Given the description of an element on the screen output the (x, y) to click on. 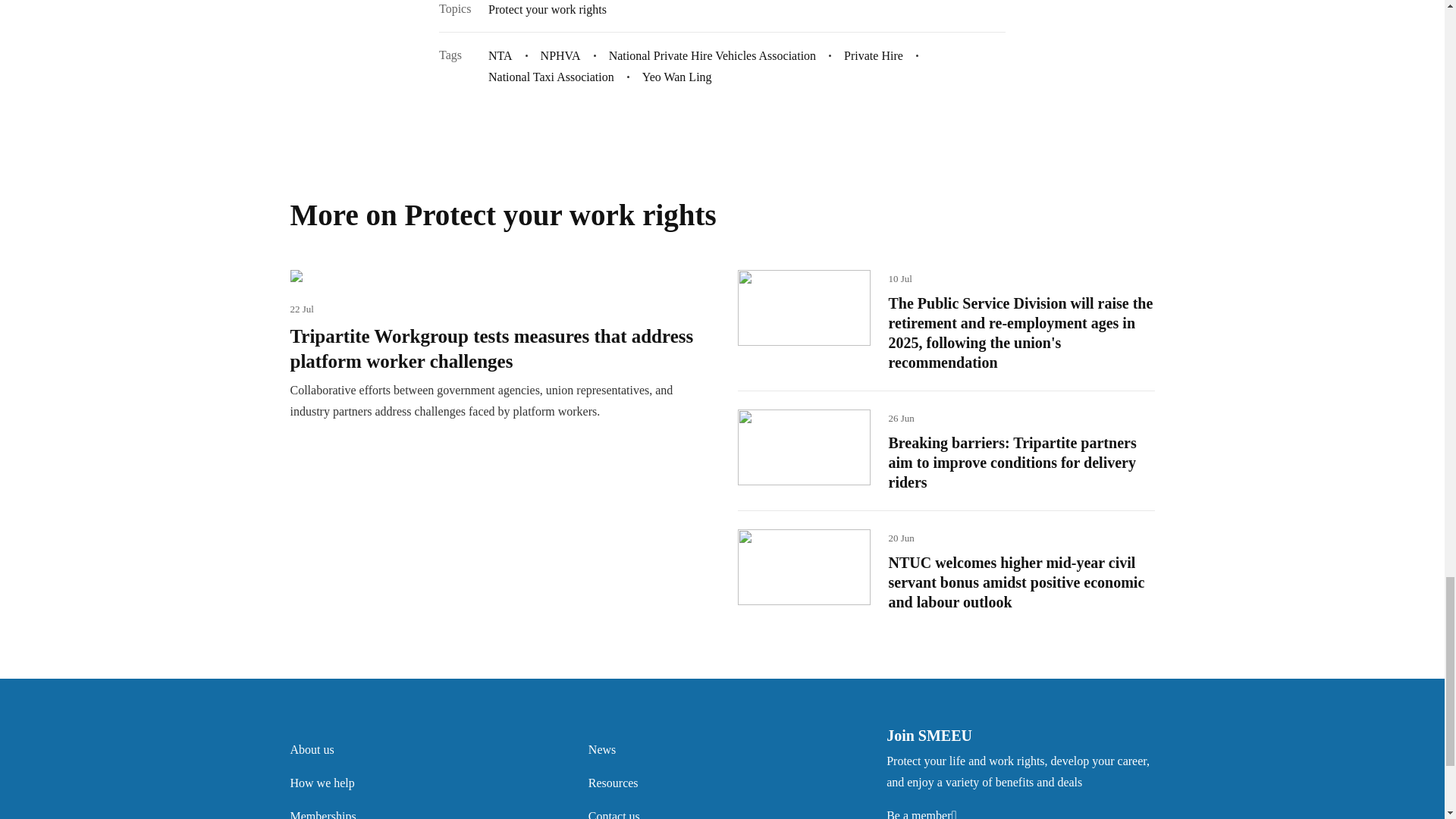
National Taxi Association (550, 76)
Yeo Wan Ling (677, 76)
Protect your work rights (547, 9)
National Private Hire Vehicles Association (712, 55)
Private Hire (873, 55)
NPHVA (560, 55)
NTA (500, 55)
